Given the description of an element on the screen output the (x, y) to click on. 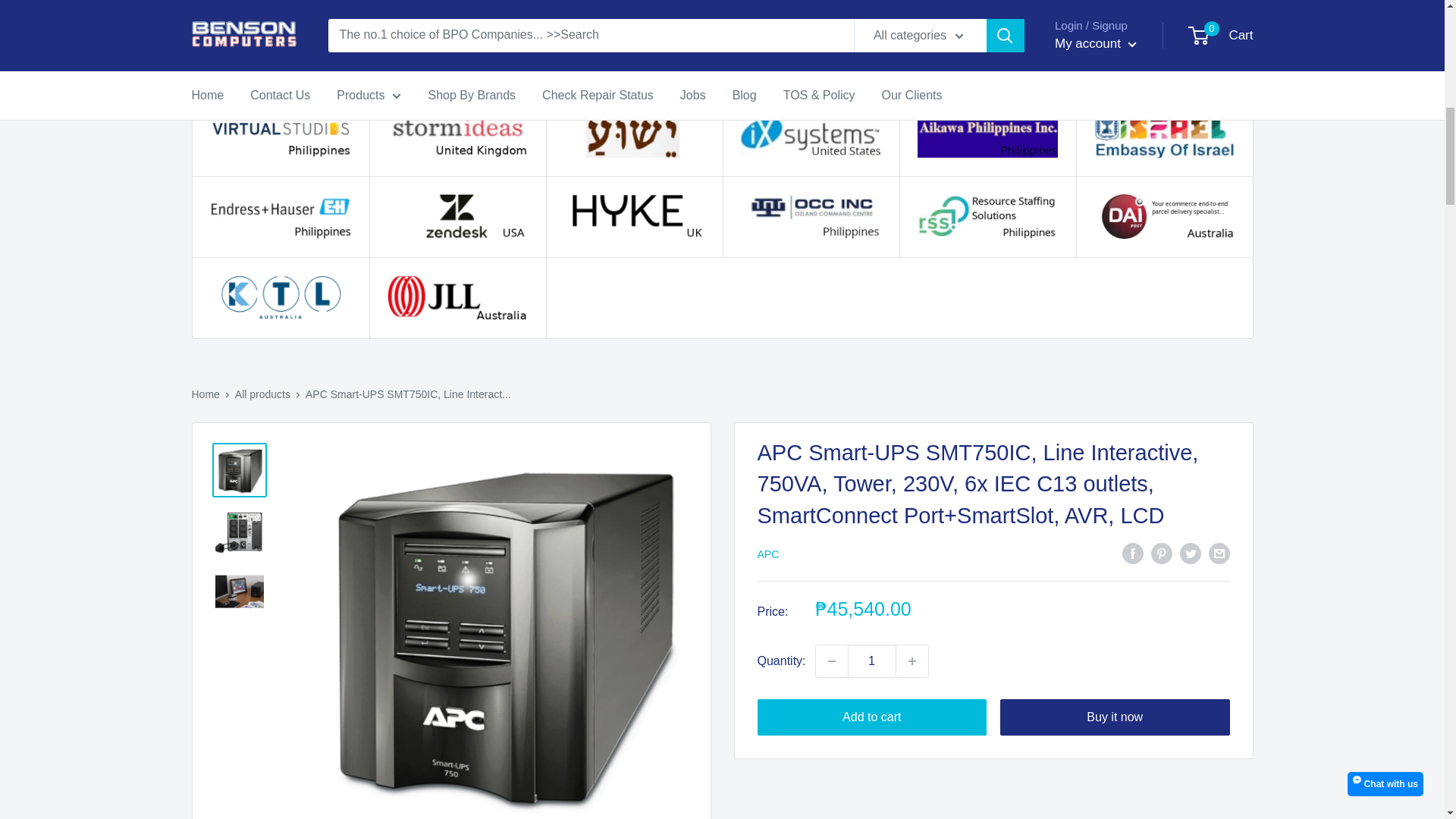
Increase quantity by 1 (912, 661)
1 (871, 661)
Decrease quantity by 1 (831, 661)
